Given the description of an element on the screen output the (x, y) to click on. 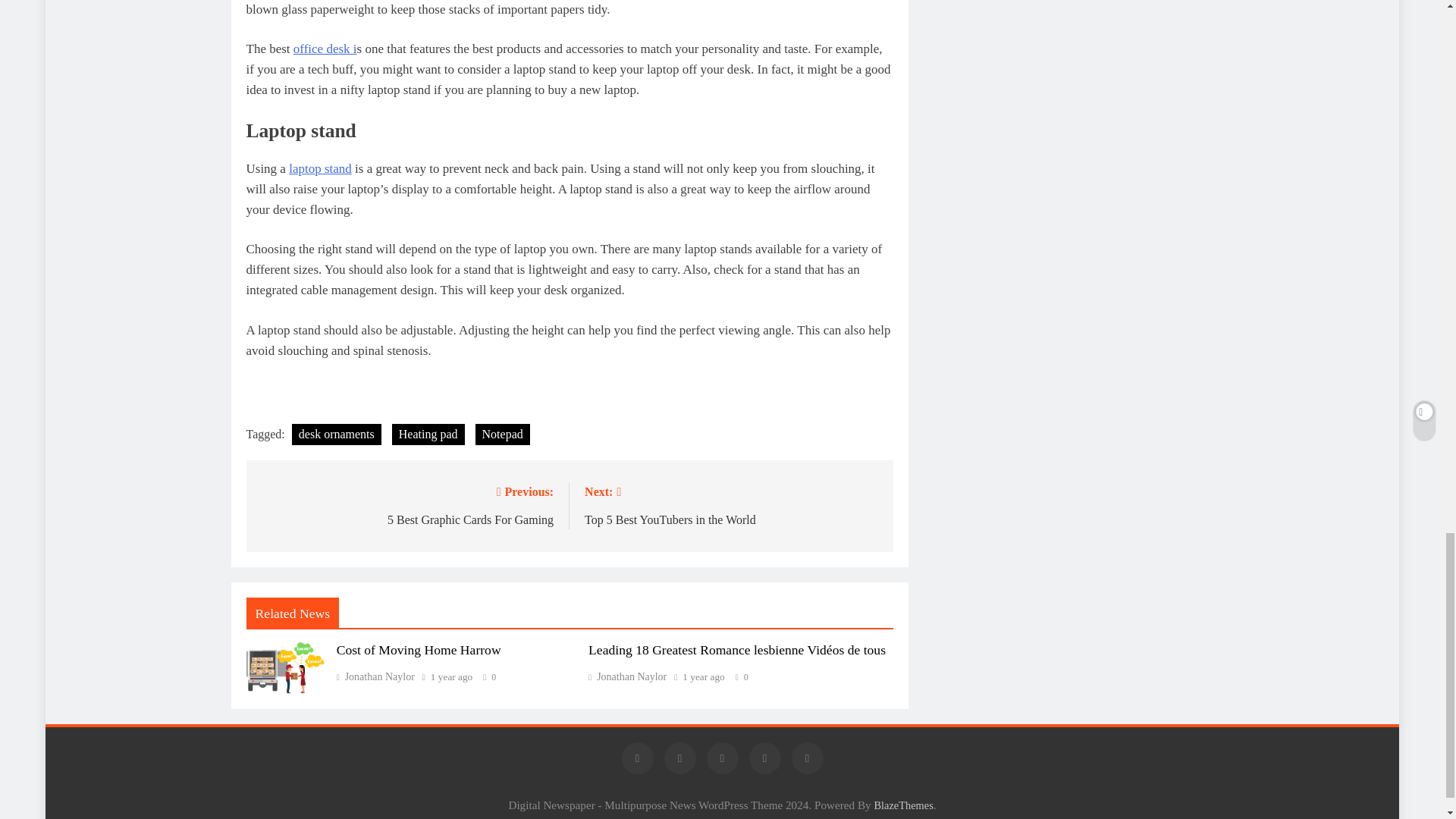
Cost of Moving Home Harrow (418, 649)
desk ornaments (336, 434)
Notepad (502, 434)
1 year ago (450, 676)
laptop stand (320, 168)
Jonathan Naylor (406, 504)
Jonathan Naylor (627, 676)
Heating pad (375, 676)
office desk i (427, 434)
